Given the description of an element on the screen output the (x, y) to click on. 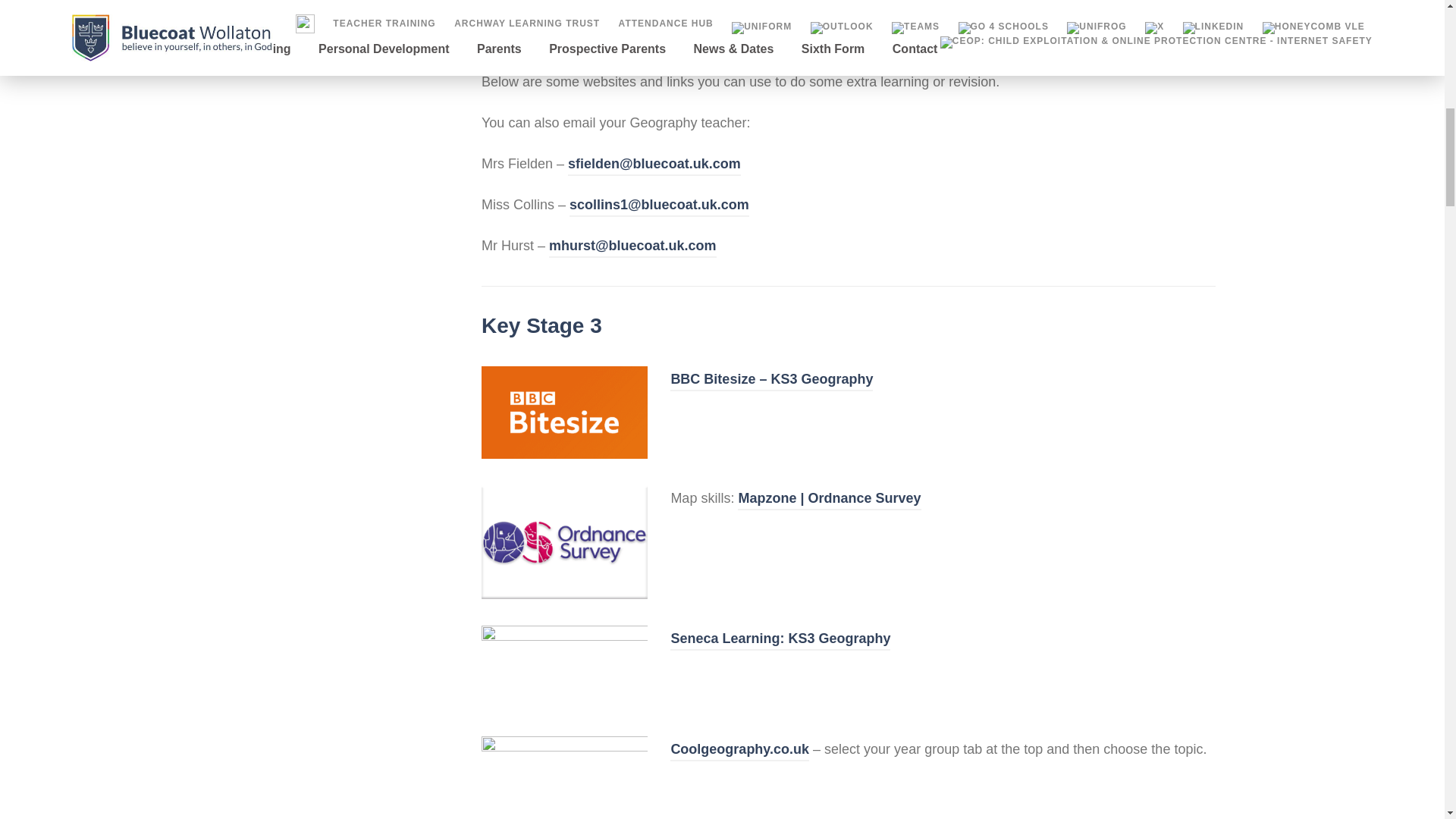
Ordnance Survey Logo (564, 541)
Banner1 (564, 769)
P088btjf (564, 412)
Land Ocean Ice Cloud 1024 (848, 21)
Rsz Senecalogo Min (564, 667)
